Given the description of an element on the screen output the (x, y) to click on. 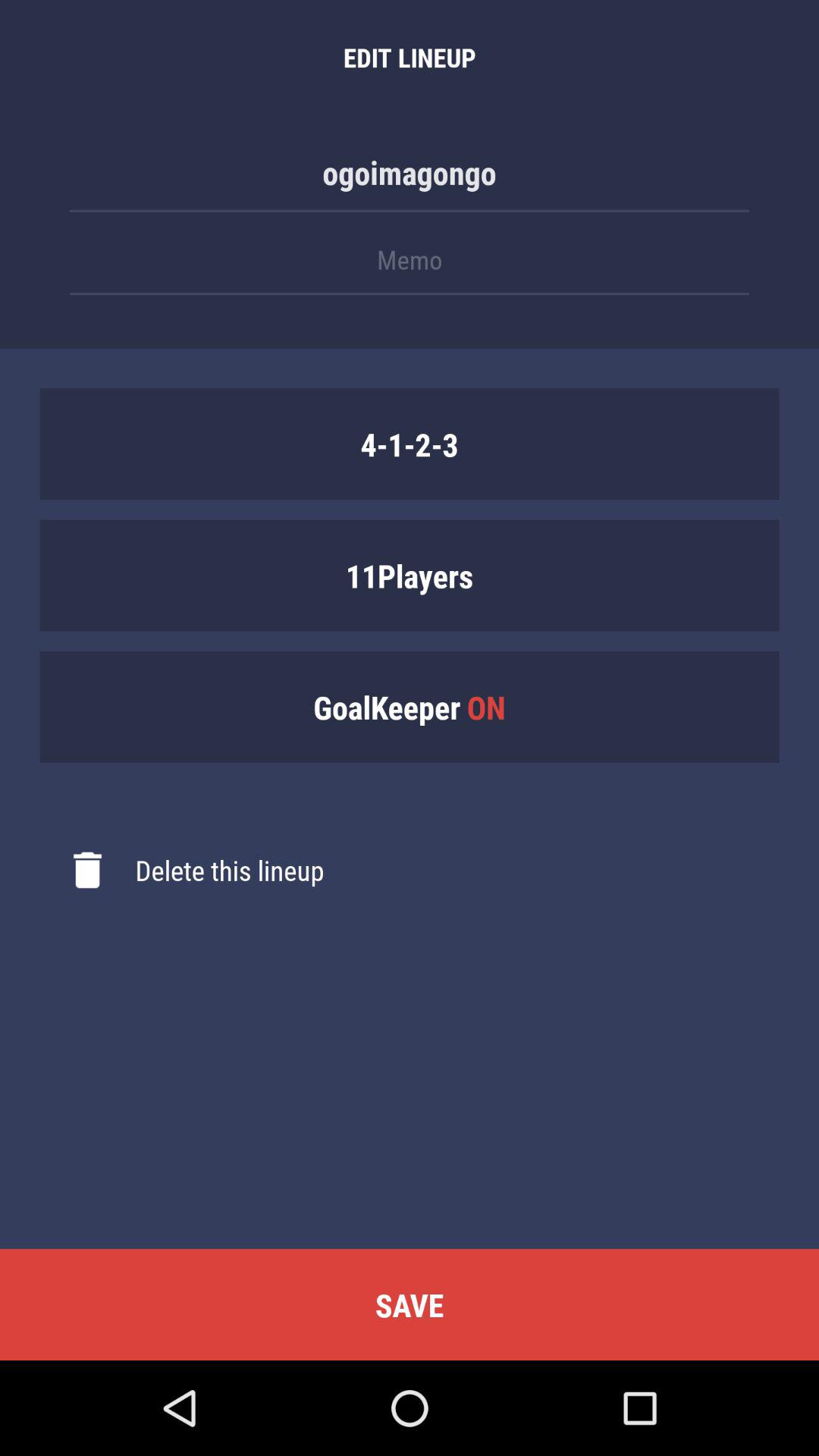
turn off the save item (409, 1304)
